Given the description of an element on the screen output the (x, y) to click on. 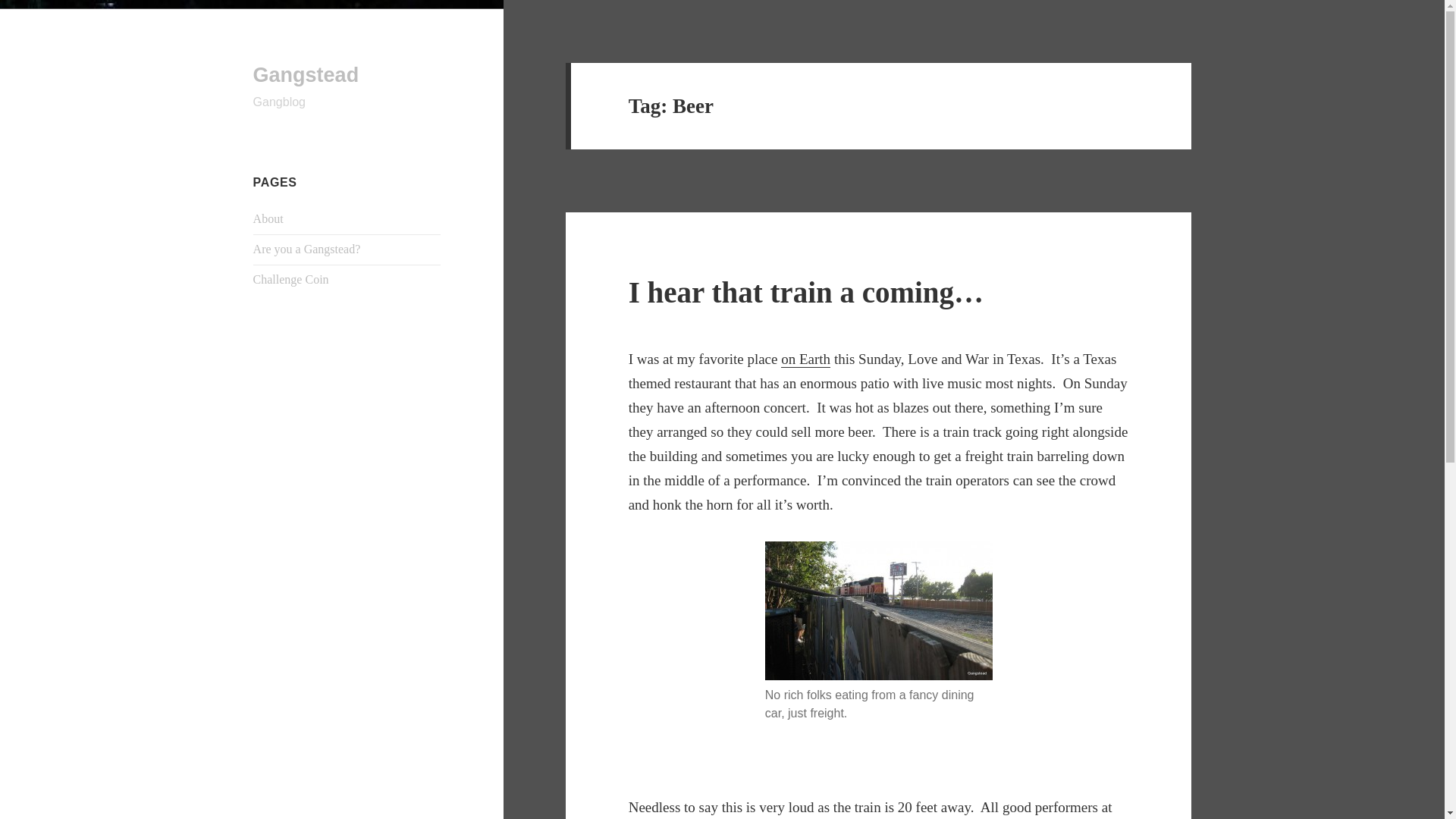
on Earth (804, 359)
Challenge Coin (291, 278)
Gangstead (306, 74)
Are you a Gangstead? (307, 248)
About (268, 218)
